Given the description of an element on the screen output the (x, y) to click on. 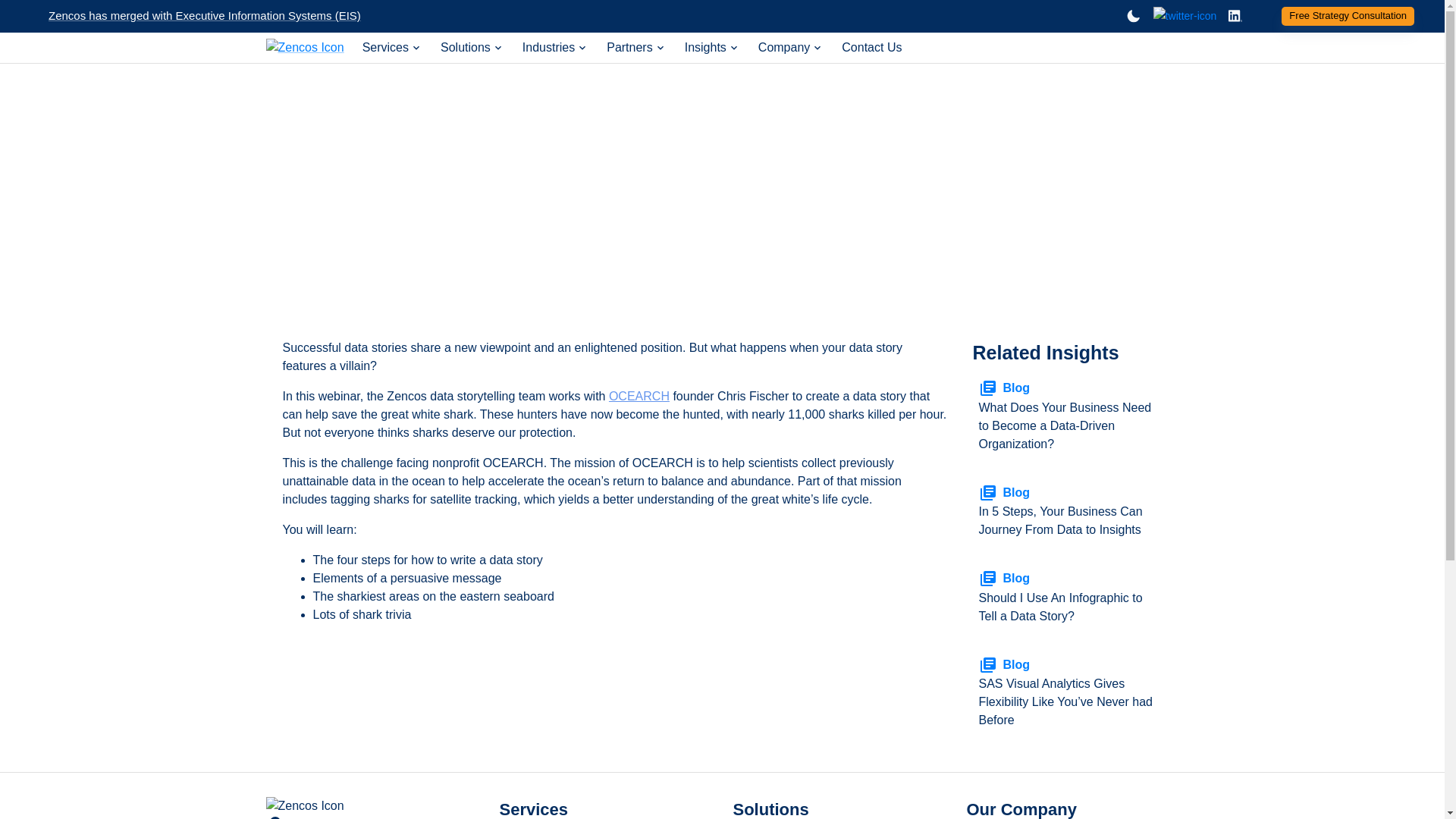
Company (791, 46)
Contact Us (871, 47)
OCEARCH (638, 395)
Industries (555, 46)
Free Strategy Consultation (1347, 15)
Solutions (472, 46)
Partners (636, 46)
Insights (711, 46)
Services (392, 46)
